Given the description of an element on the screen output the (x, y) to click on. 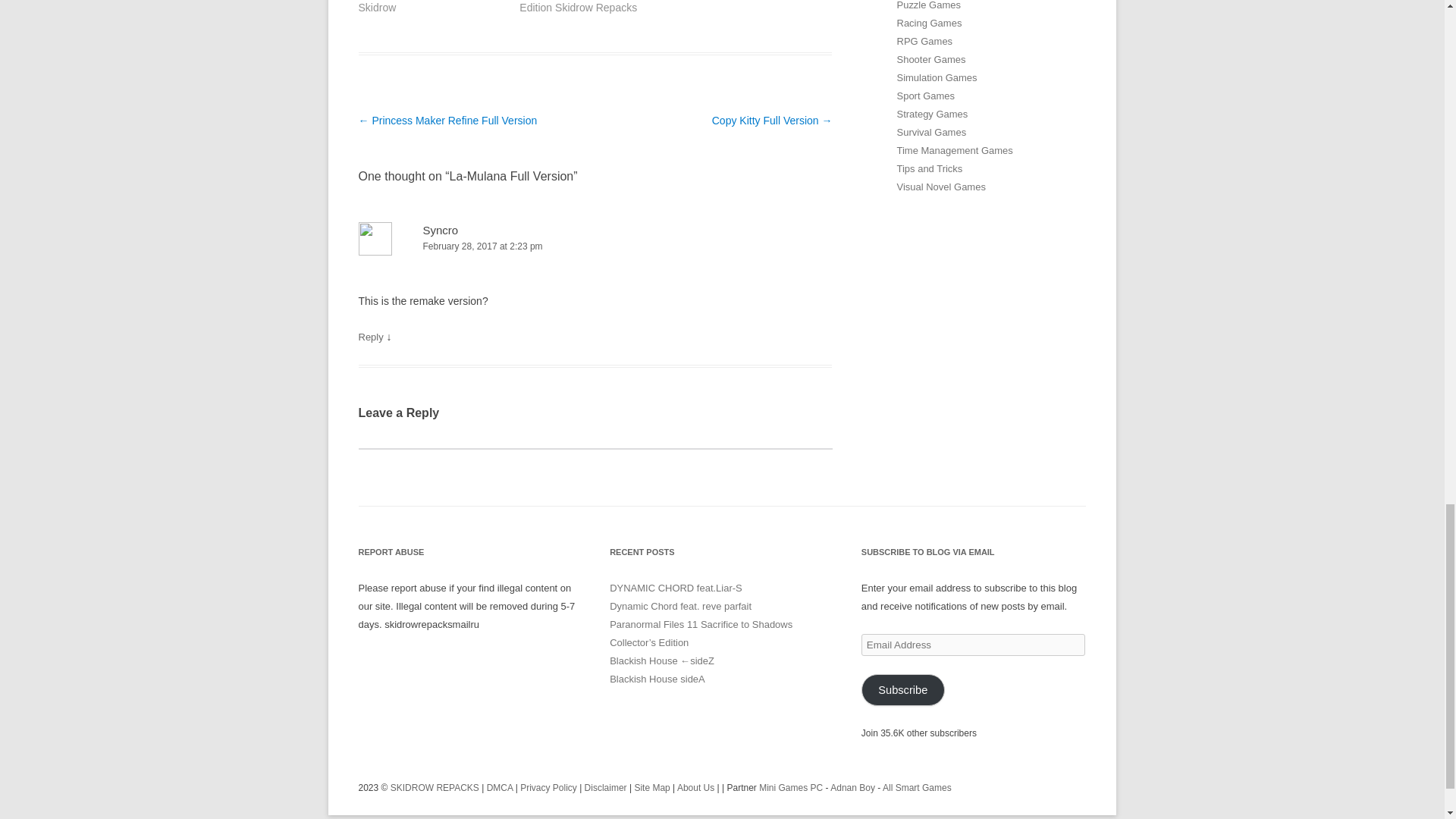
Fallout 3 Game Of The Year Edition Skidrow Repacks (584, 6)
Rolling Sun Full Version by Skidrow (421, 6)
February 28, 2017 at 2:23 pm (594, 246)
